Given the description of an element on the screen output the (x, y) to click on. 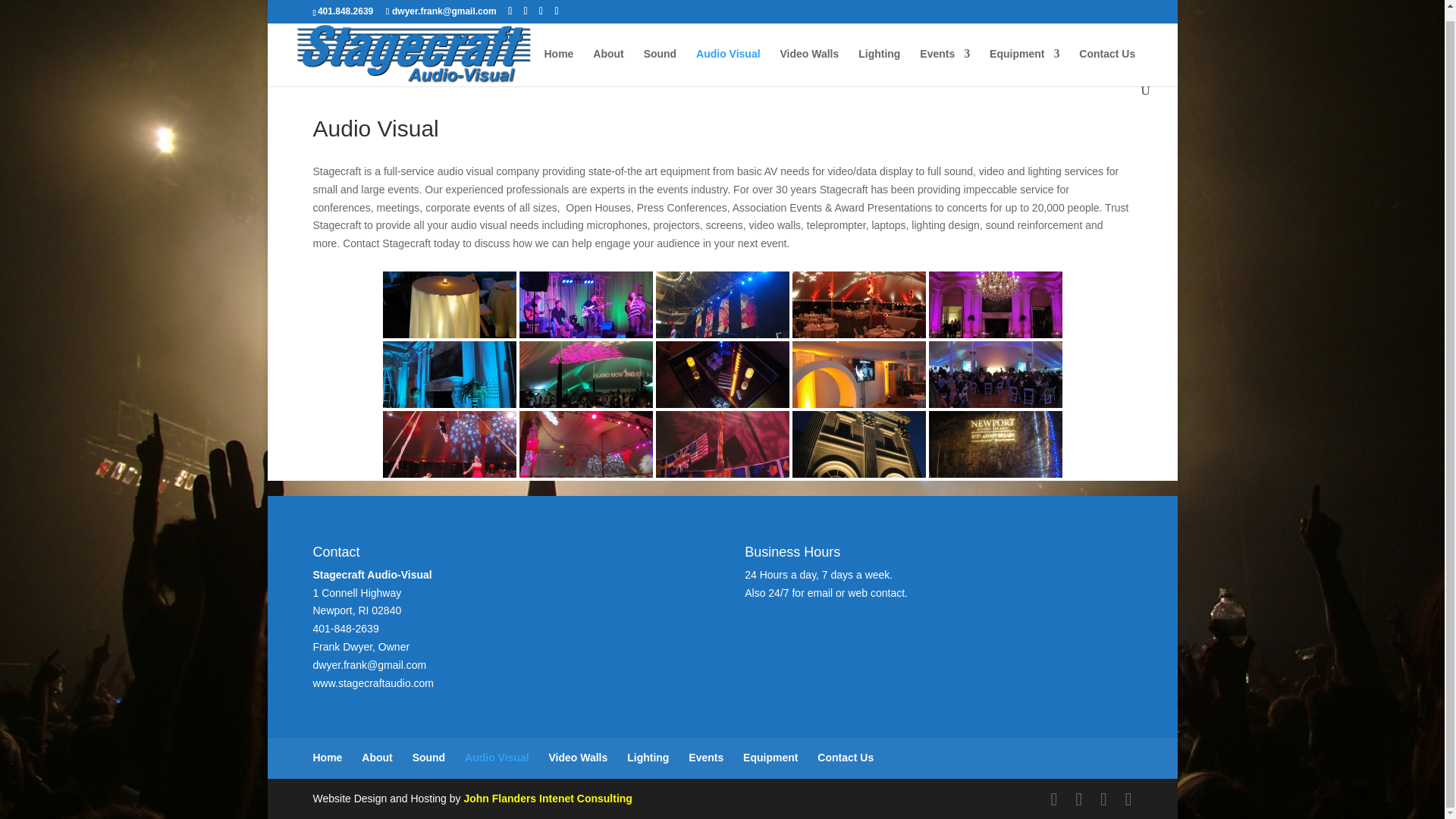
Audio Visual (727, 55)
Lighting205 (585, 374)
Lighting (879, 55)
Lighting203 (994, 304)
Image056 (585, 304)
Under table uplighting (448, 304)
Contact Us (1106, 55)
